Given the description of an element on the screen output the (x, y) to click on. 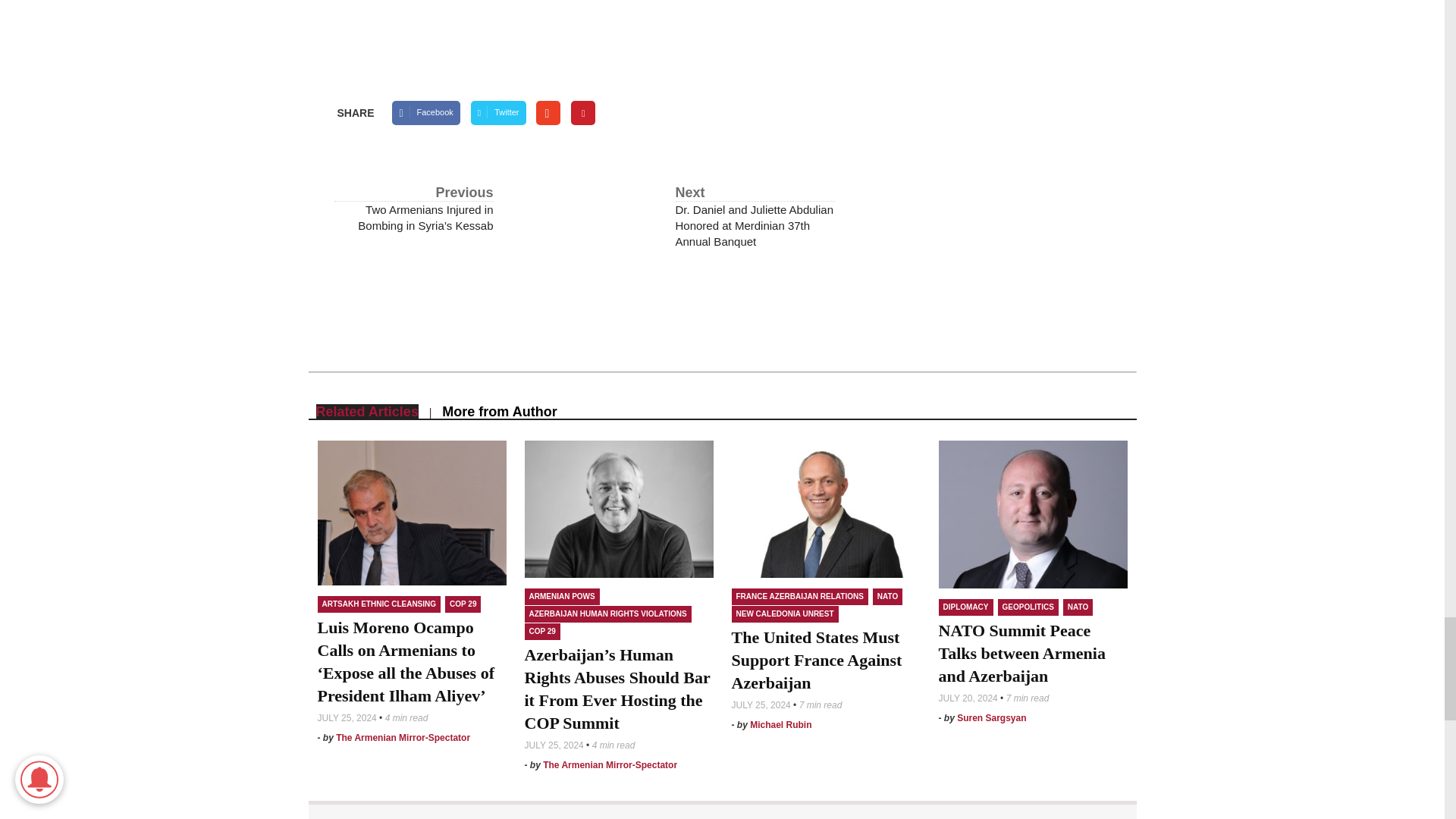
The United States Must Support France Against Azerbaijan (815, 660)
The United States Must Support France Against Azerbaijan (825, 509)
NATO Summit Peace Talks between Armenia and Azerbaijan (1032, 514)
